Given the description of an element on the screen output the (x, y) to click on. 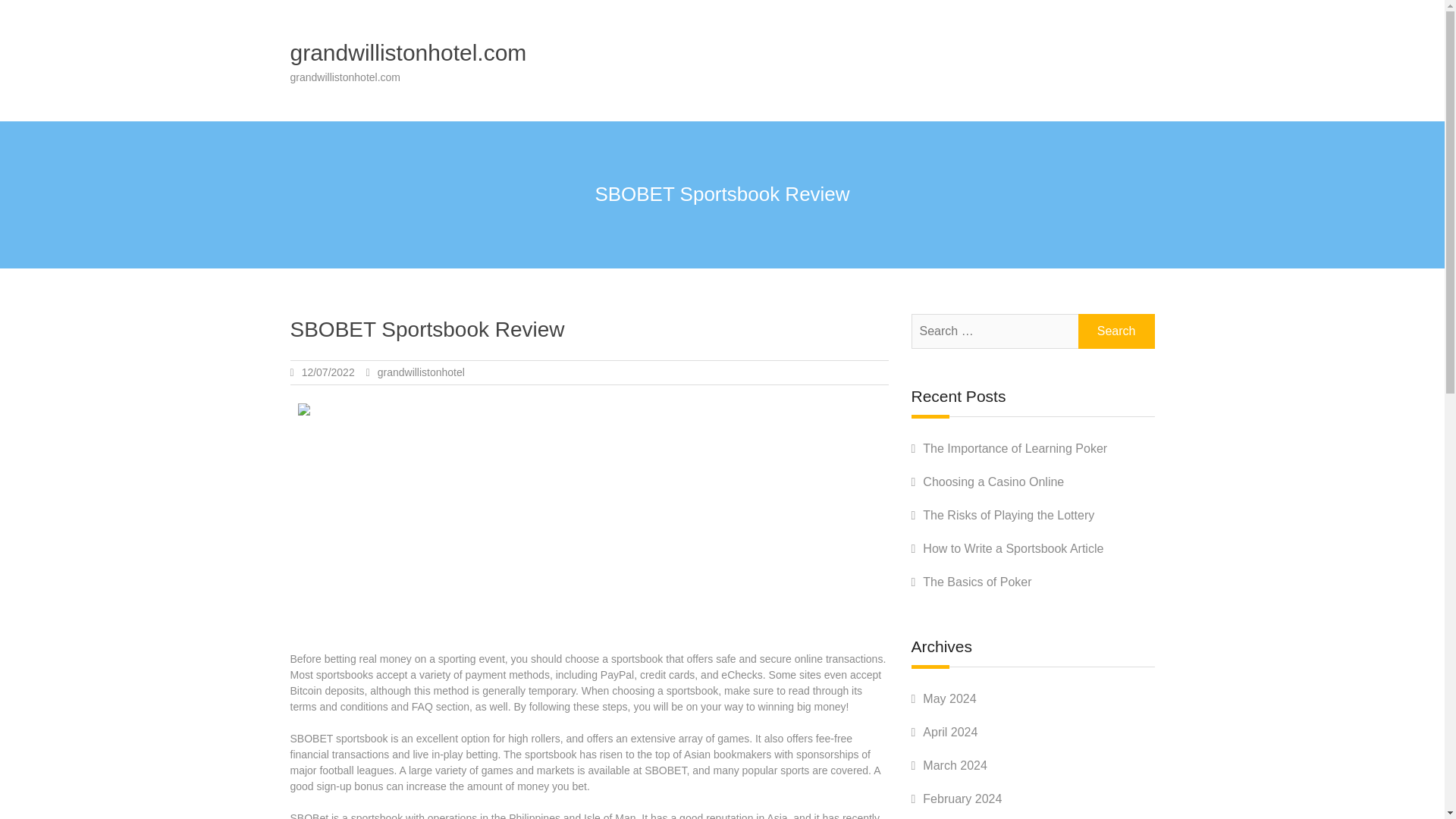
Choosing a Casino Online (993, 481)
February 2024 (962, 798)
Search (1116, 330)
The Basics of Poker (976, 581)
grandwillistonhotel (420, 372)
The Importance of Learning Poker (1014, 448)
The Risks of Playing the Lottery (1008, 514)
Search (1116, 330)
grandwillistonhotel.com (407, 52)
Search (1116, 330)
May 2024 (949, 698)
March 2024 (955, 765)
April 2024 (949, 731)
How to Write a Sportsbook Article (1013, 548)
